Given the description of an element on the screen output the (x, y) to click on. 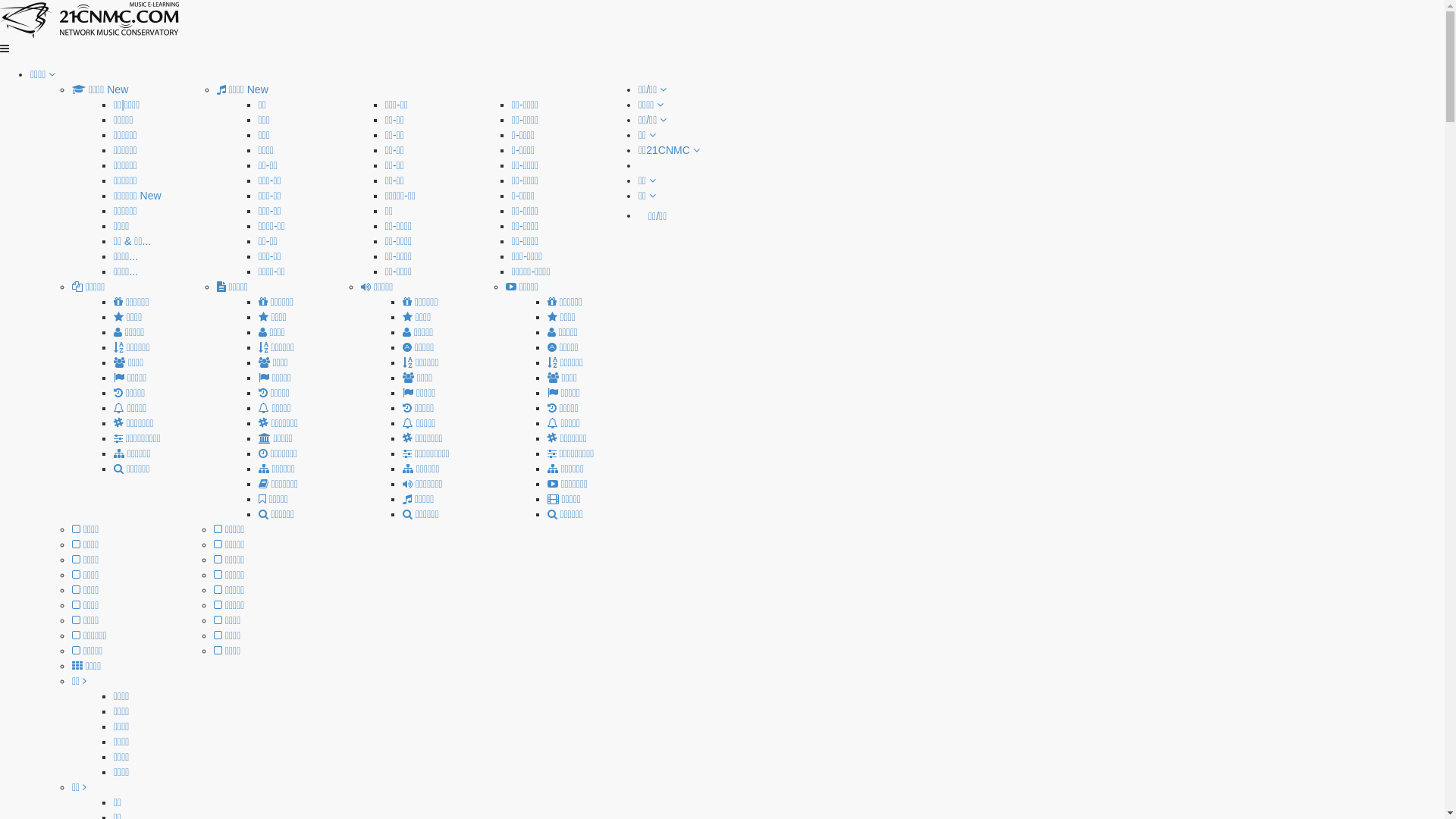
  Element type: text (639, 165)
